Given the description of an element on the screen output the (x, y) to click on. 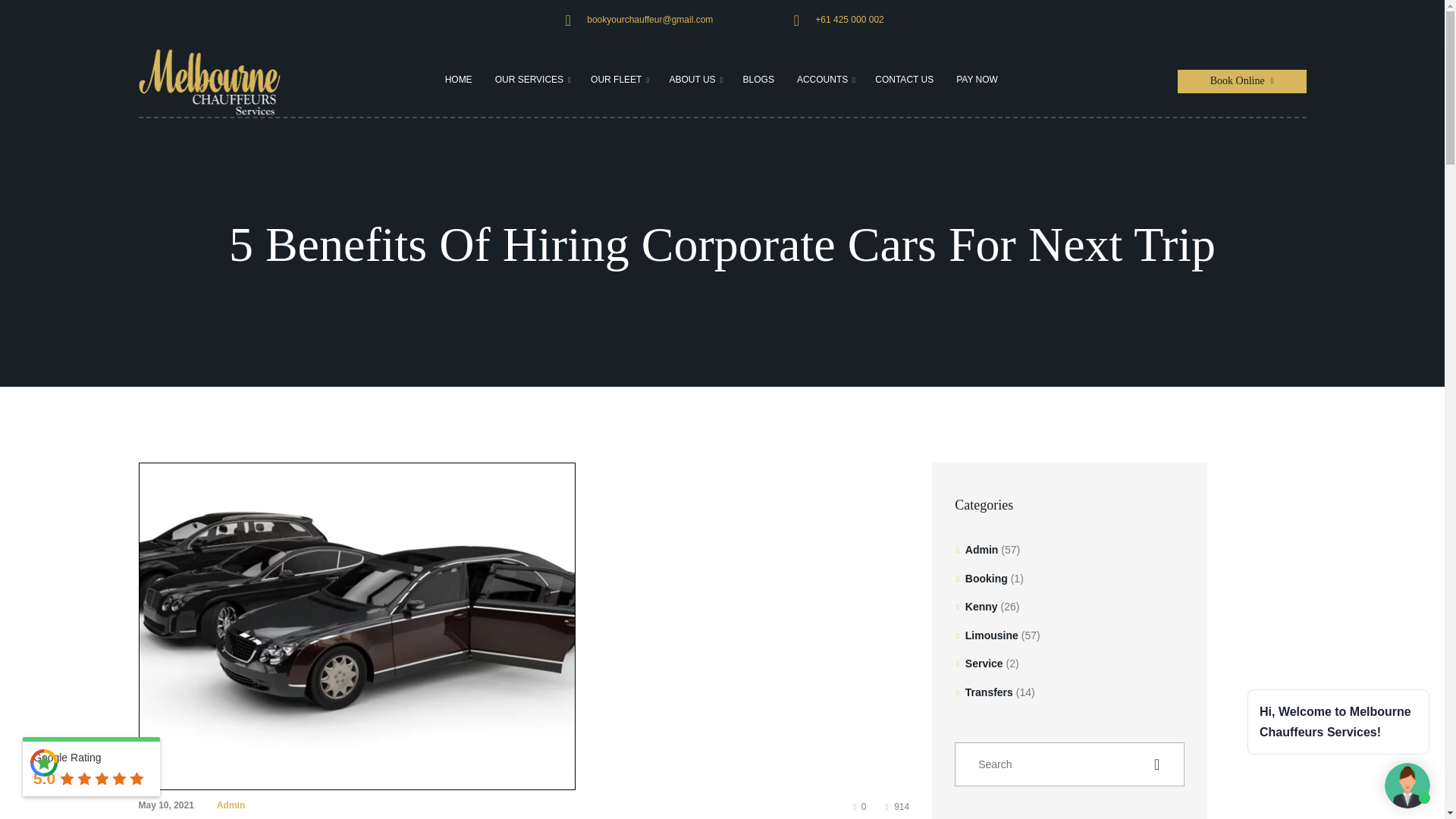
ACCOUNTS (822, 79)
OUR FLEET (615, 79)
OUR SERVICES (529, 79)
ABOUT US (692, 79)
HOME (458, 79)
BLOGS (759, 79)
